Given the description of an element on the screen output the (x, y) to click on. 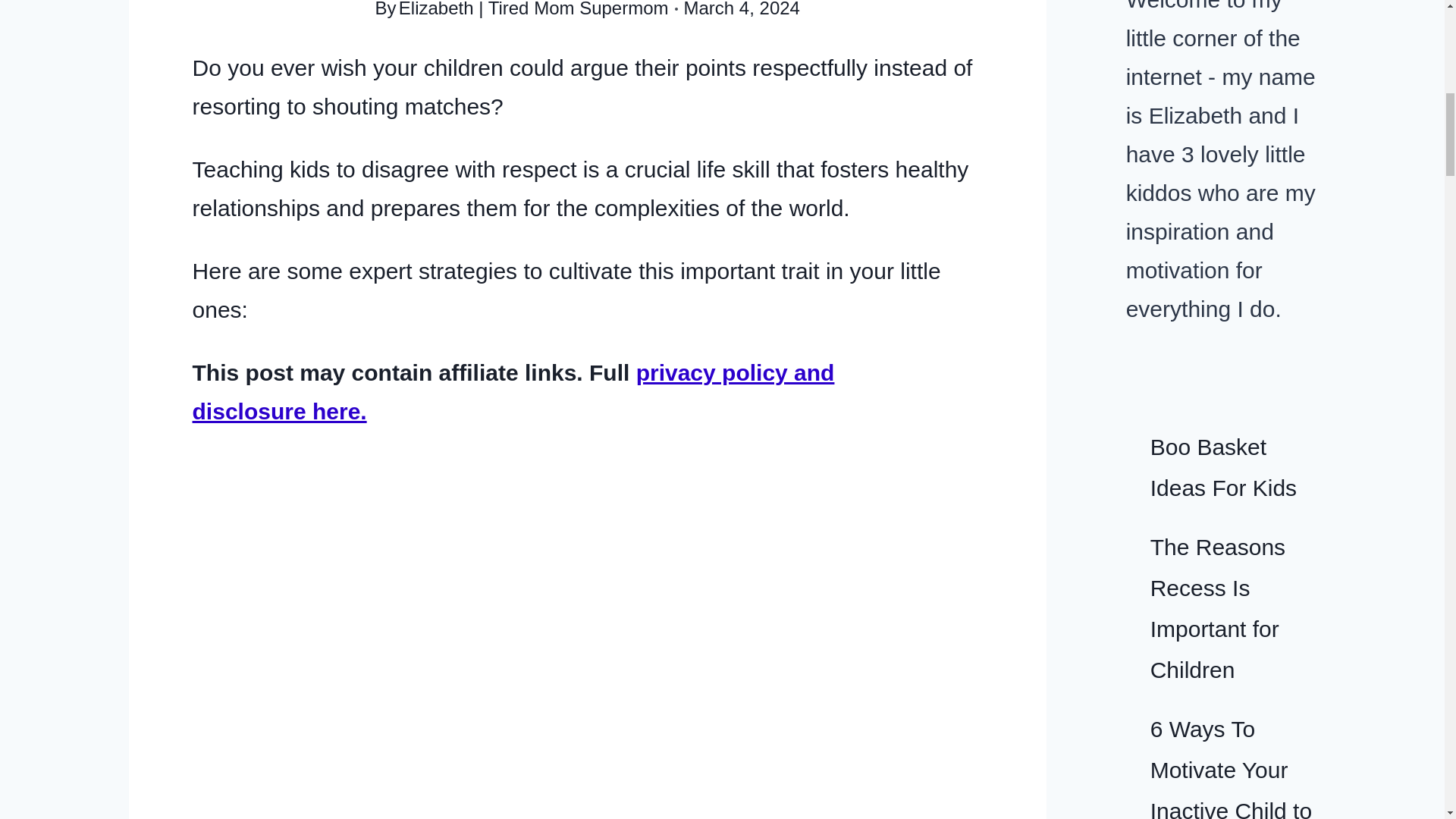
privacy policy and disclosure here. (513, 392)
Boo Basket Ideas For Kids (1223, 467)
The Reasons Recess Is Important for Children (1217, 608)
6 Ways To Motivate Your Inactive Child to Exercise (1230, 767)
